Given the description of an element on the screen output the (x, y) to click on. 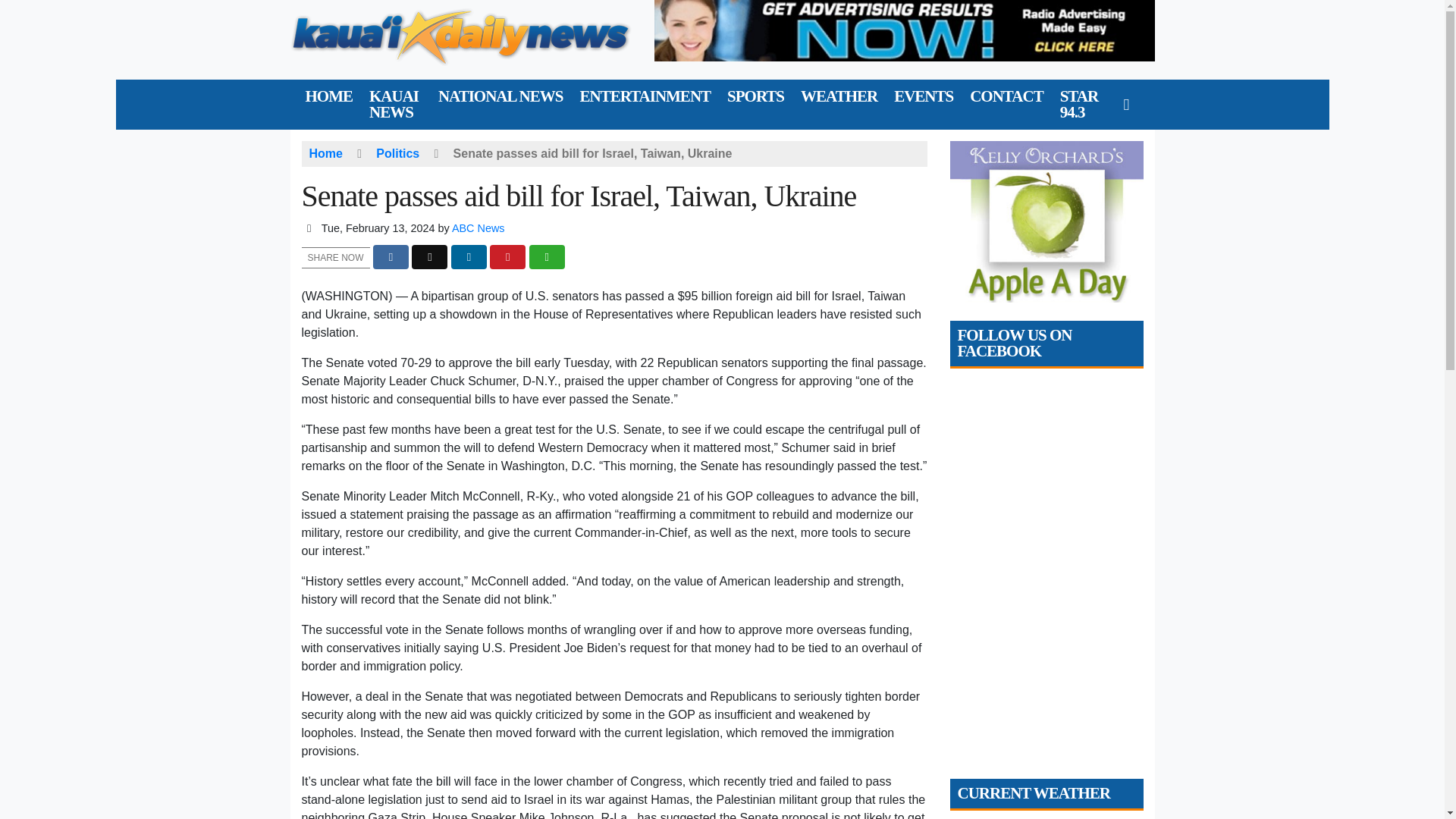
Share to X (429, 257)
Share to Pinterest (507, 257)
Share to Facebook (390, 257)
Posts by ABC News (478, 227)
Share to LinkedIn (468, 257)
Share via E-Mail (546, 257)
